Given the description of an element on the screen output the (x, y) to click on. 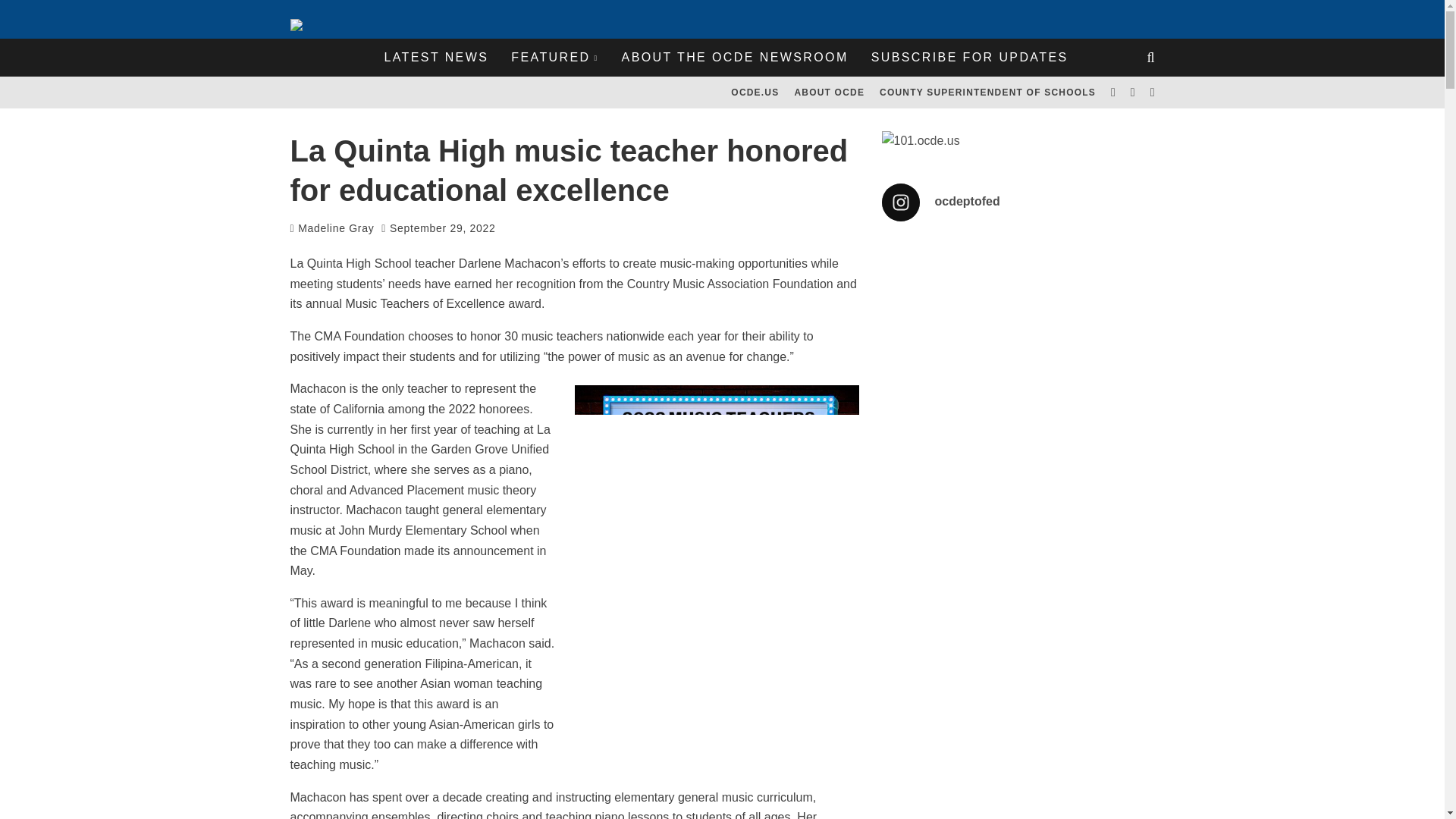
COUNTY SUPERINTENDENT OF SCHOOLS (987, 92)
ABOUT OCDE (829, 92)
SUBSCRIBE FOR UPDATES (970, 57)
FEATURED (554, 57)
LATEST NEWS (435, 57)
ABOUT THE OCDE NEWSROOM (735, 57)
OCDE.US (754, 92)
Madeline Gray (331, 227)
